Given the description of an element on the screen output the (x, y) to click on. 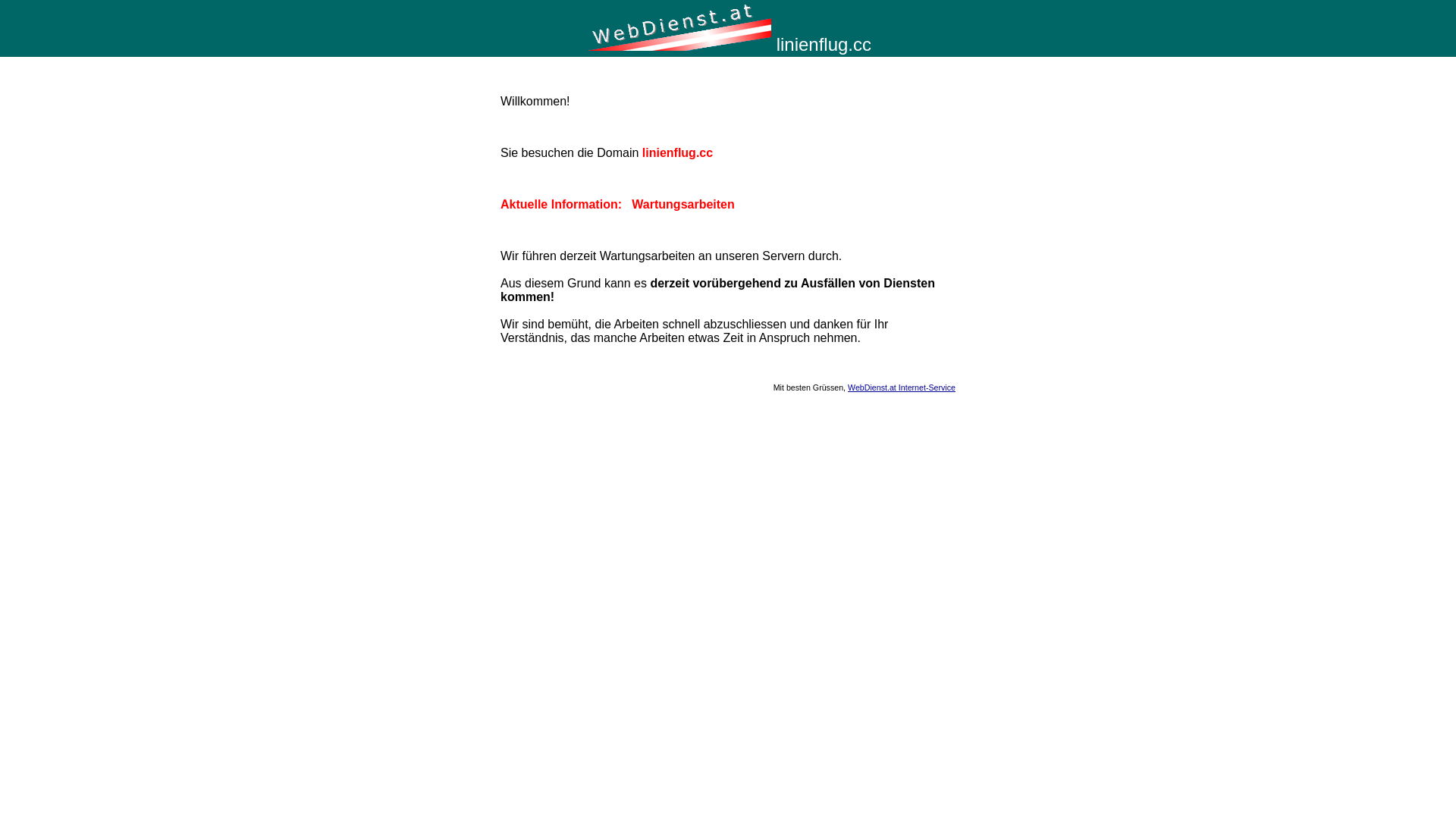
WebDienst.at Internet-Service Element type: text (901, 387)
